Given the description of an element on the screen output the (x, y) to click on. 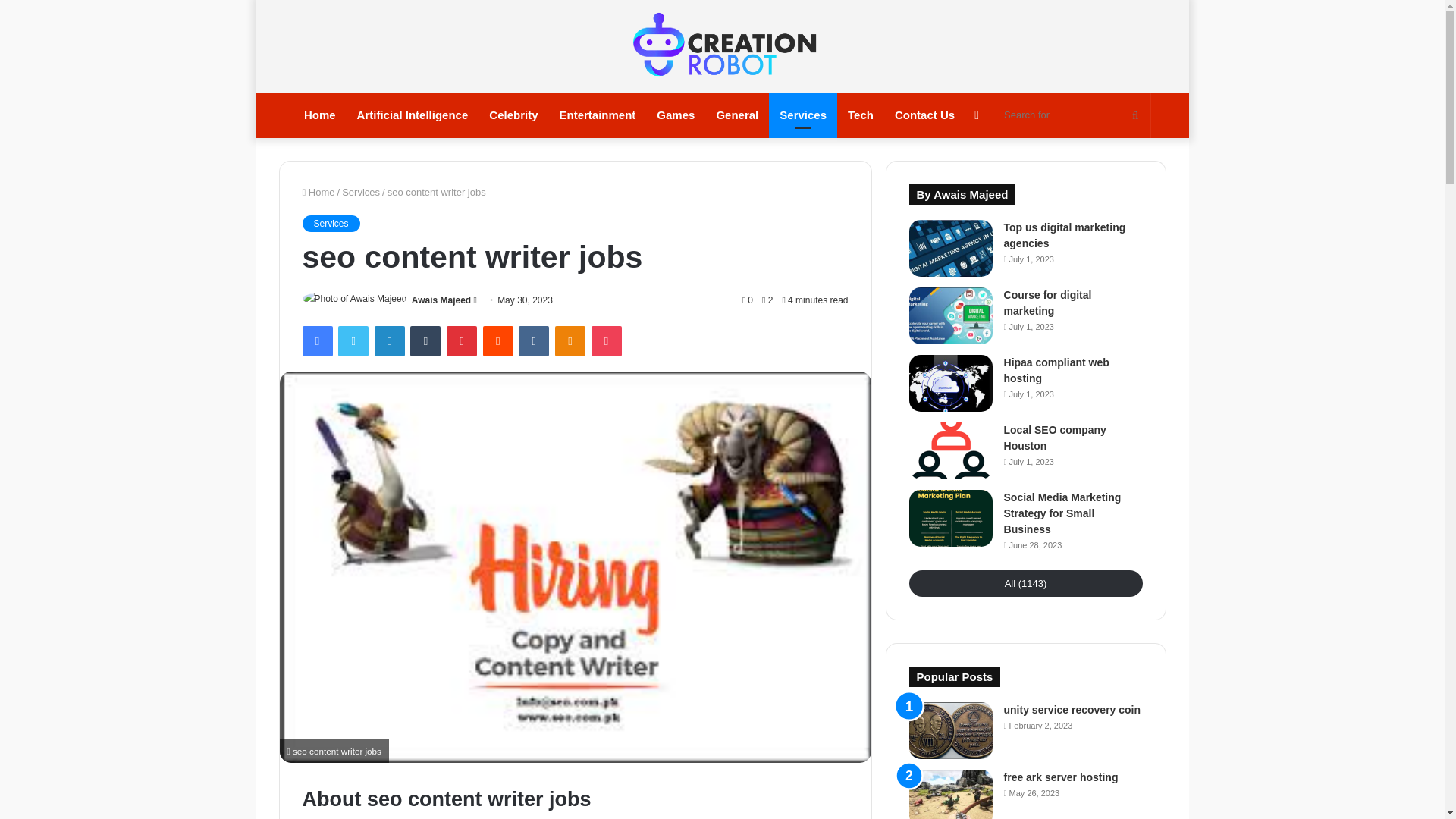
Tumblr (425, 340)
Creation Robot (722, 46)
Home (317, 192)
Awais Majeed (441, 299)
Odnoklassniki (569, 340)
General (736, 115)
Services (361, 192)
Facebook (316, 340)
VKontakte (533, 340)
Pocket (606, 340)
